Given the description of an element on the screen output the (x, y) to click on. 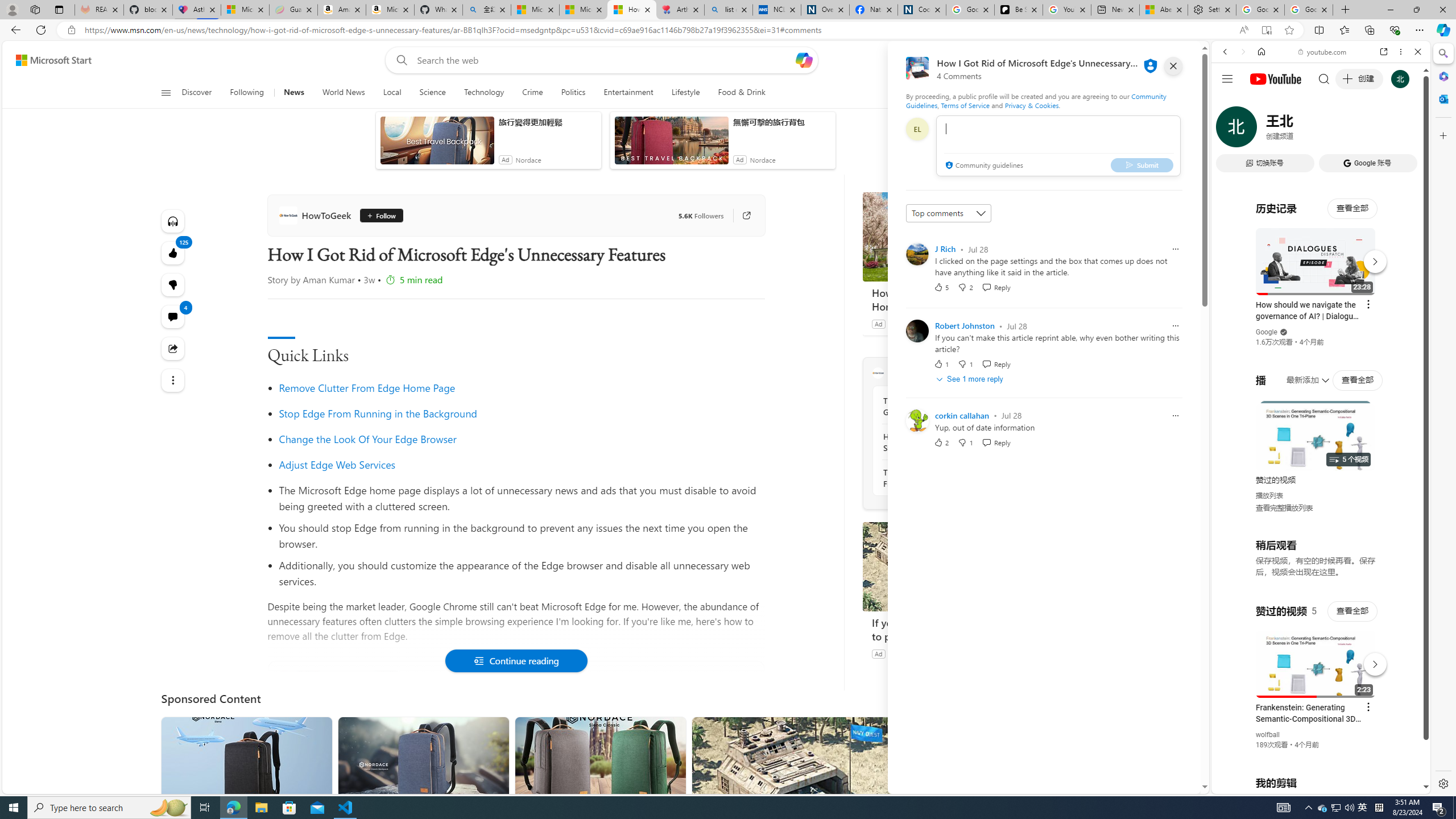
Microsoft-Report a Concern to Bing (244, 9)
More options (1401, 51)
Refresh (40, 29)
Close tab (1324, 9)
Lifestyle (685, 92)
Local (392, 92)
If you have a mouse, you have to play this game. (947, 628)
Open Copilot (803, 59)
Lifestyle (685, 92)
Technology (483, 92)
Trailer #2 [HD] (1320, 337)
